Given the description of an element on the screen output the (x, y) to click on. 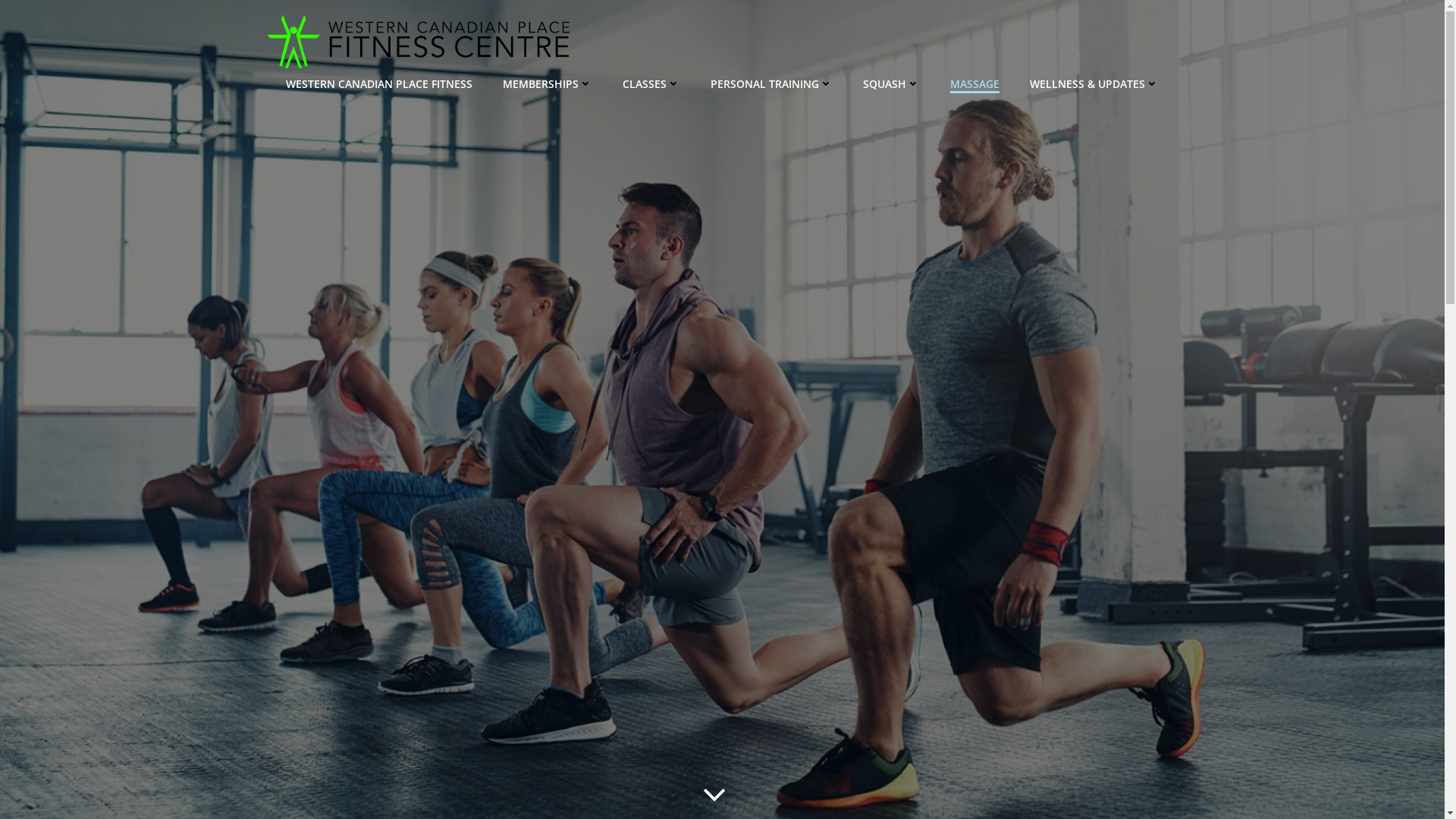
MASSAGE Element type: text (974, 83)
WESTERN CANADIAN PLACE FITNESS Element type: text (378, 83)
PERSONAL TRAINING Element type: text (771, 83)
CLASSES Element type: text (651, 83)
WELLNESS & UPDATES Element type: text (1093, 83)
MEMBERSHIPS Element type: text (547, 83)
SQUASH Element type: text (890, 83)
